Given the description of an element on the screen output the (x, y) to click on. 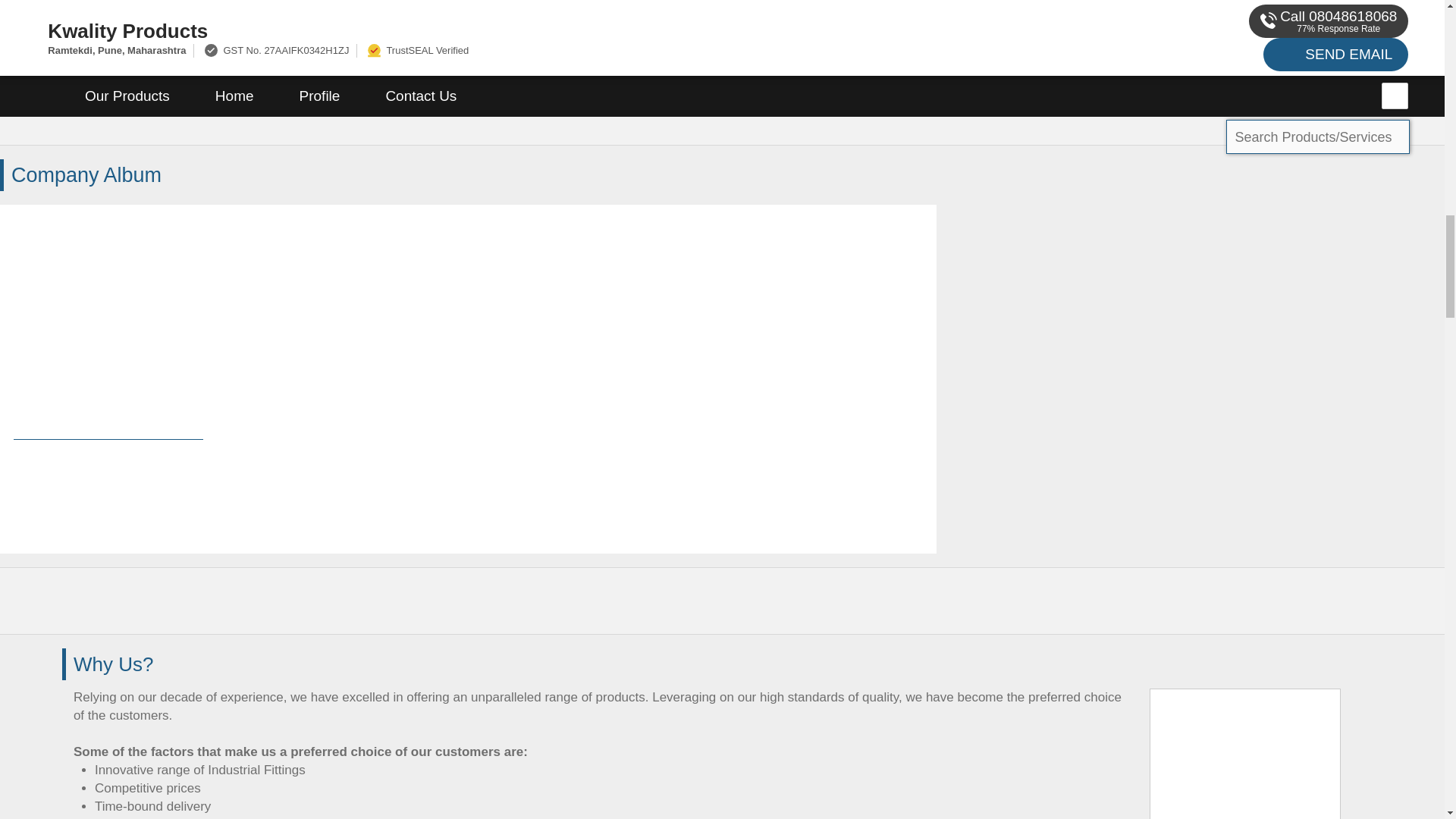
Corporate Video (108, 377)
